Given the description of an element on the screen output the (x, y) to click on. 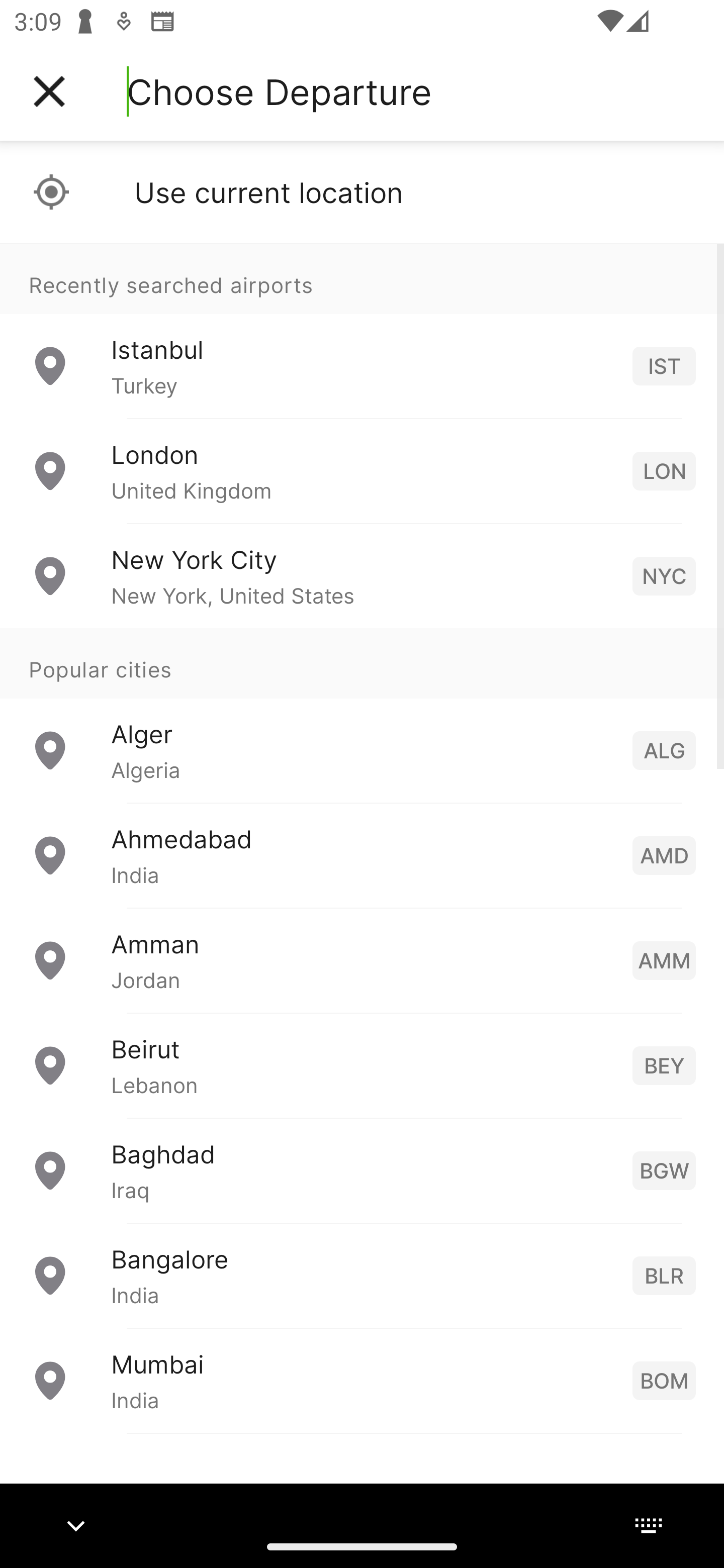
Choose Departure (279, 91)
Use current location (362, 192)
Recently searched airports Istanbul Turkey IST (362, 330)
Recently searched airports (362, 278)
London United Kingdom LON (362, 470)
New York City New York, United States NYC (362, 575)
Popular cities Alger Algeria ALG (362, 715)
Popular cities (362, 663)
Ahmedabad India AMD (362, 854)
Amman Jordan AMM (362, 959)
Beirut Lebanon BEY (362, 1064)
Baghdad Iraq BGW (362, 1170)
Bangalore India BLR (362, 1275)
Mumbai India BOM (362, 1380)
